Given the description of an element on the screen output the (x, y) to click on. 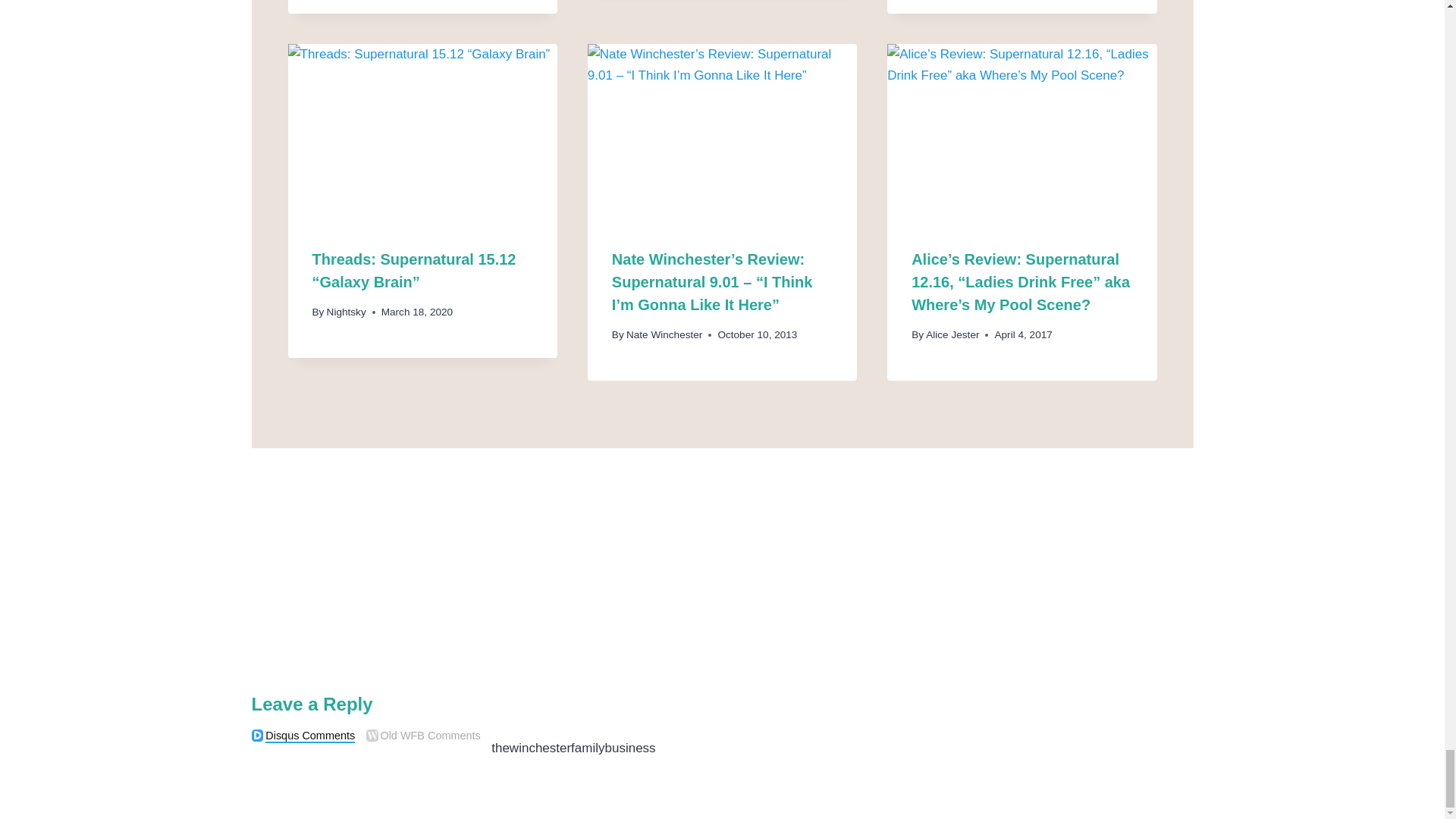
Disqus Comments (257, 735)
Old WFB Comments (372, 735)
